Given the description of an element on the screen output the (x, y) to click on. 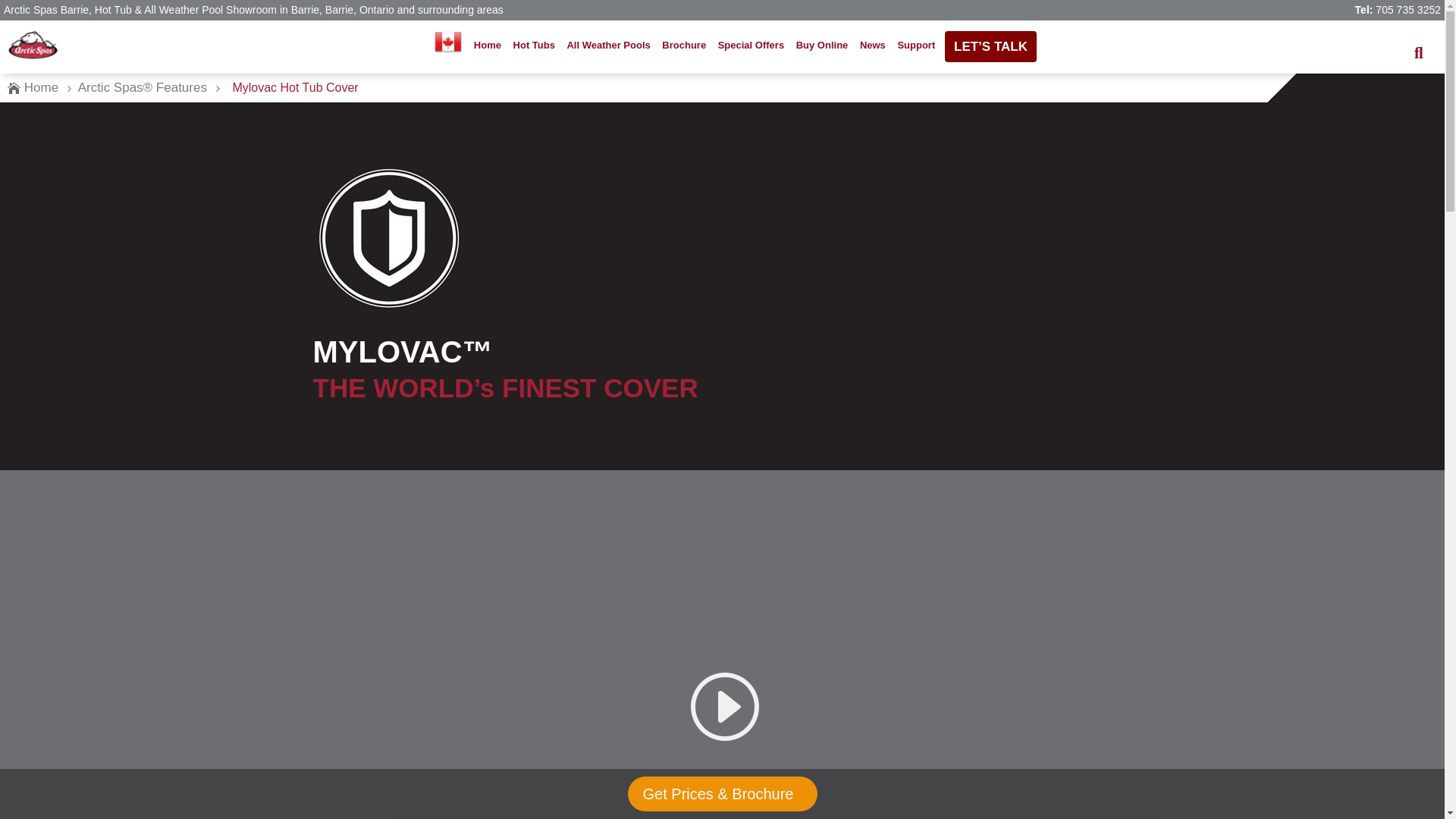
Brochure Element type: text (683, 45)
Special Offers Element type: text (751, 45)
Home Element type: text (41, 87)
Choose Your Location Element type: hover (447, 41)
Buy Online Element type: text (821, 45)
News Element type: text (872, 45)
Support Element type: text (915, 45)
Choose Your Location Element type: hover (447, 45)
Hot Tubs Element type: text (533, 45)
Get Prices & Brochure Element type: text (721, 793)
All Weather Pools Element type: text (608, 45)
Home Element type: text (487, 45)
705 735 3252 Element type: text (1407, 9)
